Given the description of an element on the screen output the (x, y) to click on. 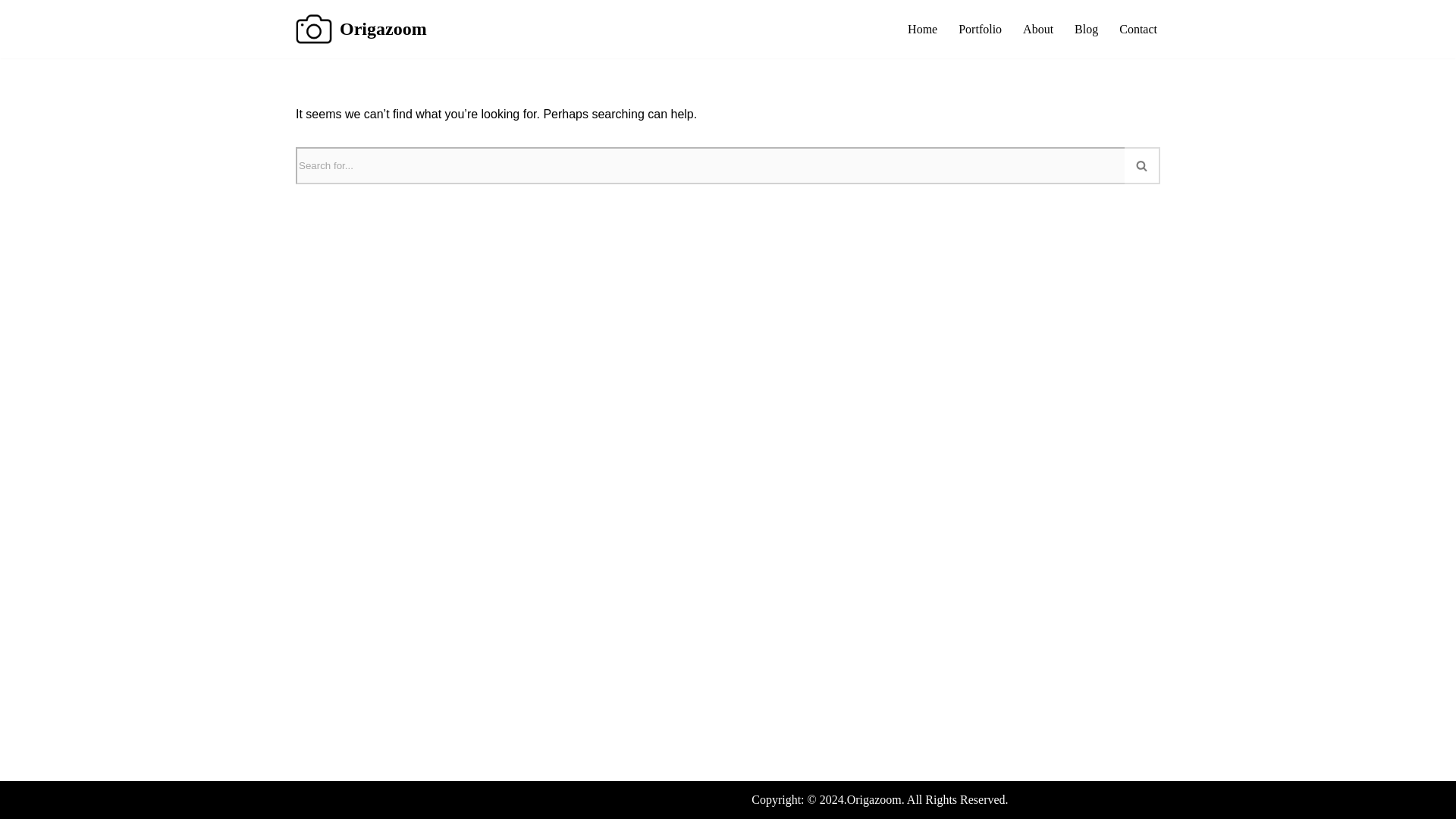
Skip to content (11, 31)
Origazoom (874, 799)
Contact (1138, 28)
Blog (1085, 28)
Portfolio (979, 28)
Home (922, 28)
Origazoom (360, 29)
About (1037, 28)
